Given the description of an element on the screen output the (x, y) to click on. 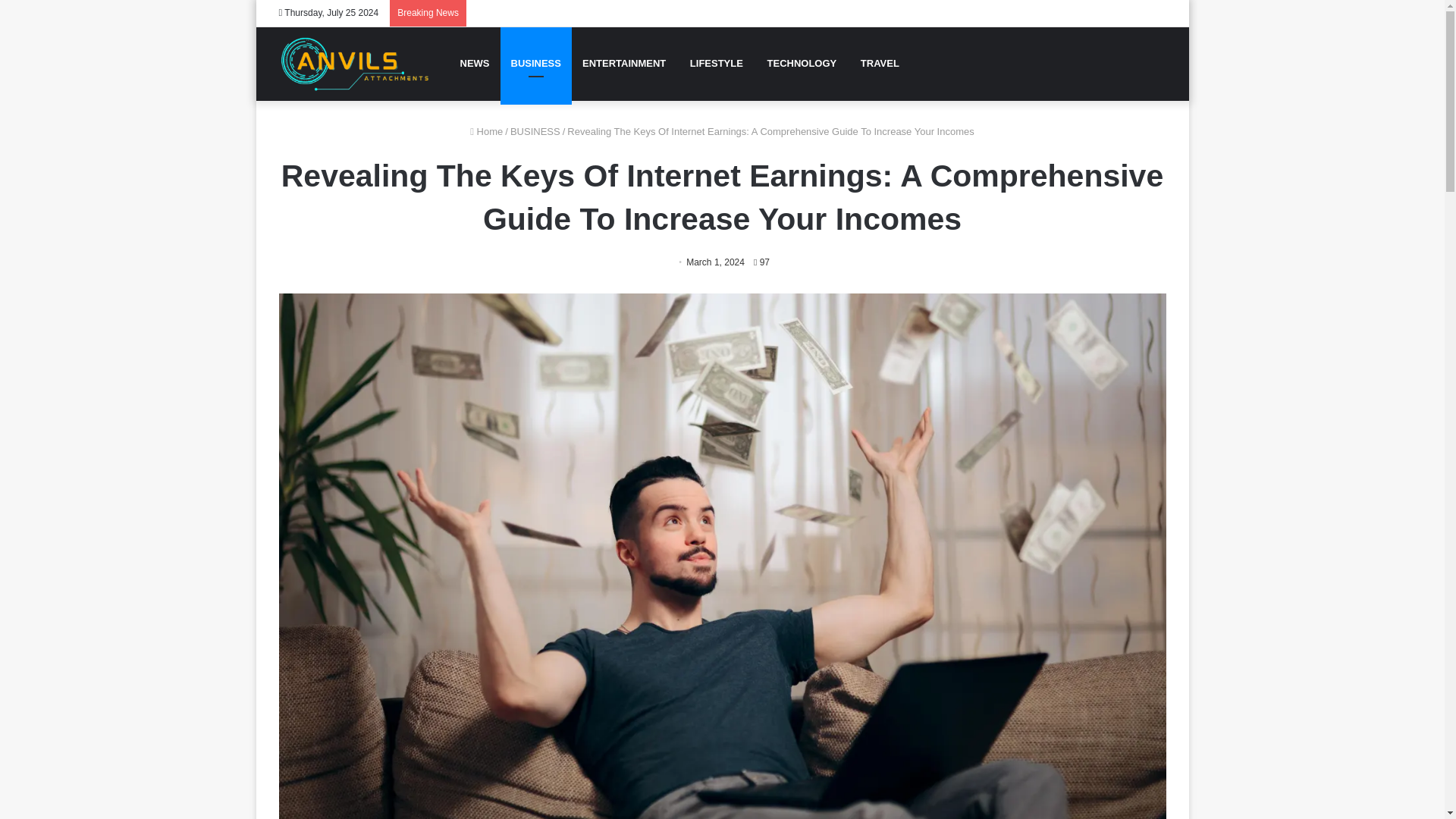
NEWS (473, 63)
 TRAVEL (878, 63)
anvils attachments (354, 63)
BUSINESS (535, 131)
 LIFESTYLE (715, 63)
 TECHNOLOGY (800, 63)
BUSINESS (536, 63)
ENTERTAINMENT (624, 63)
Home (486, 131)
